Given the description of an element on the screen output the (x, y) to click on. 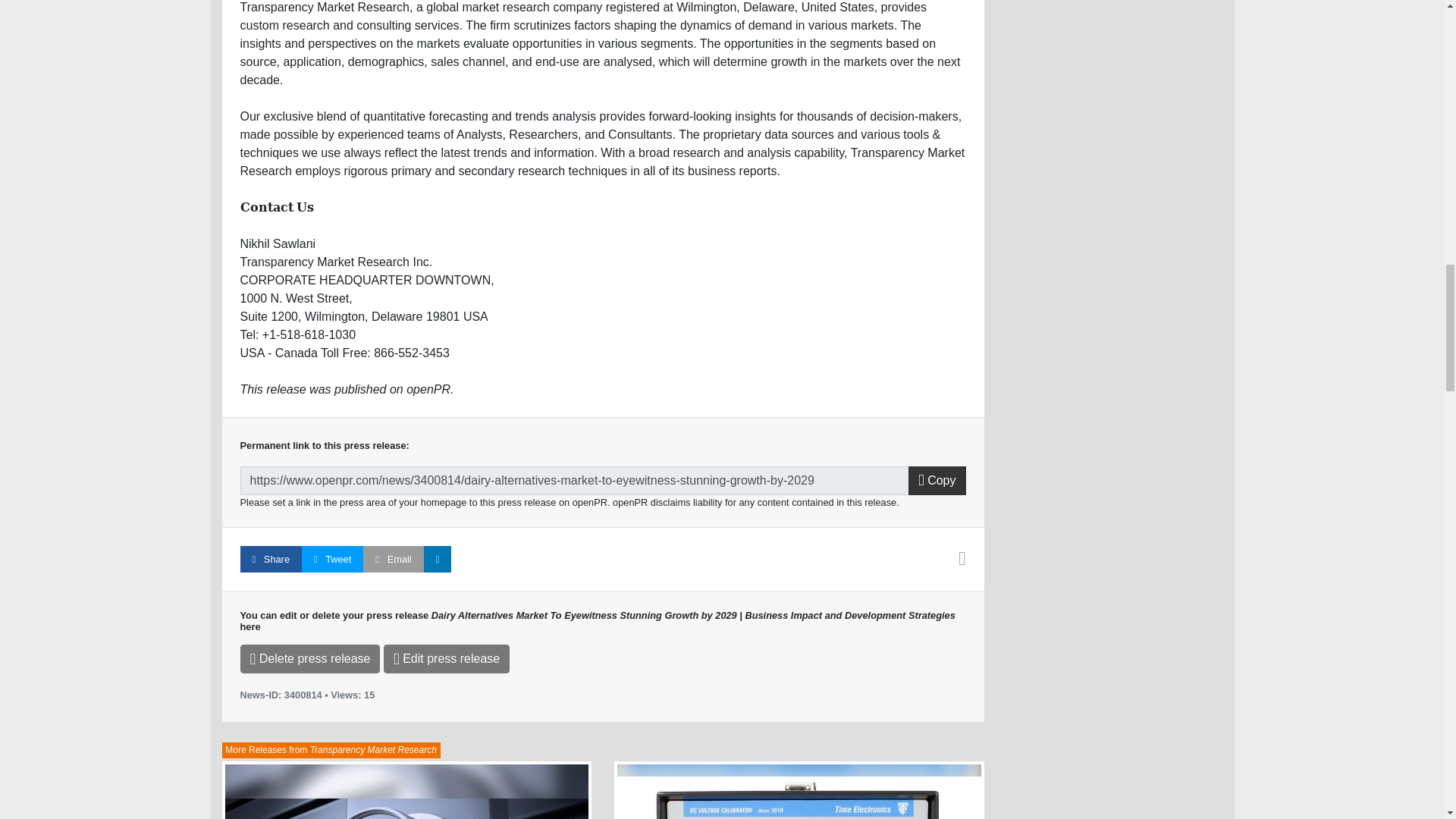
Facebook (270, 559)
LinkedIn (437, 559)
Permalink (574, 480)
Print (961, 561)
Email (392, 559)
